Given the description of an element on the screen output the (x, y) to click on. 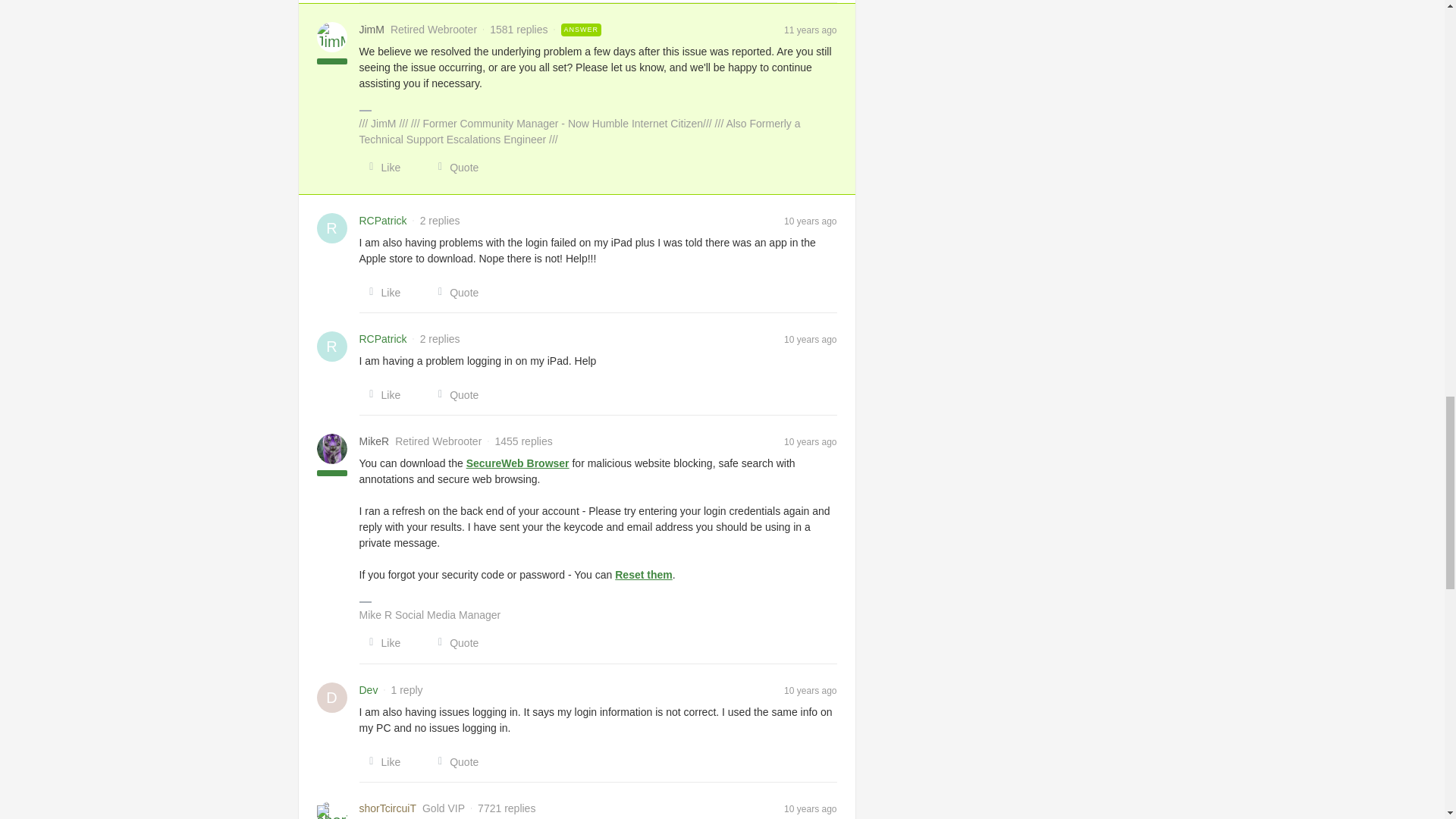
MikeR (374, 441)
JimM (371, 29)
RCPatrick (383, 220)
RCPatrick (383, 339)
